Given the description of an element on the screen output the (x, y) to click on. 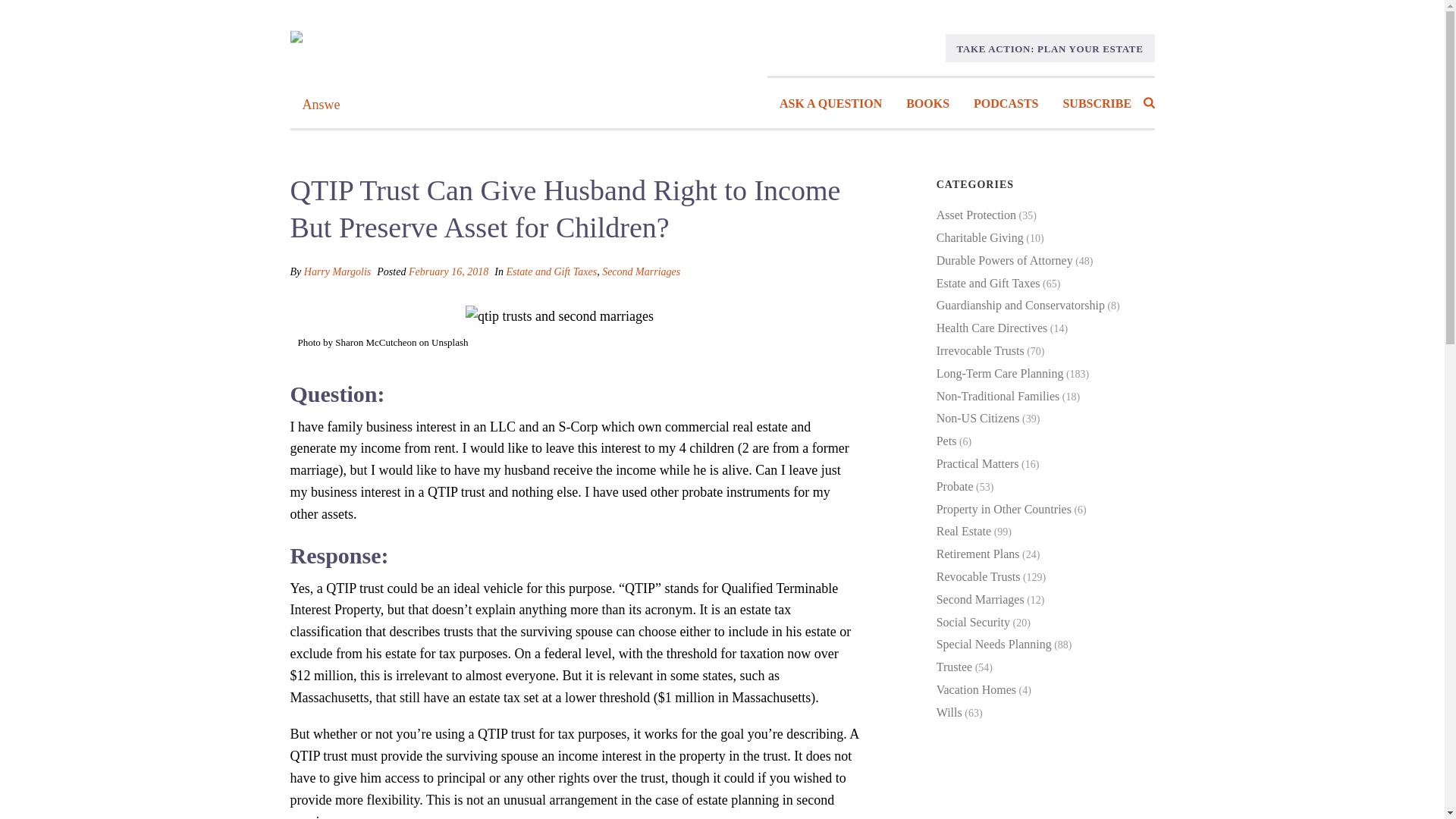
PODCASTS (1004, 104)
Charitable Giving (979, 237)
Second Marriages (640, 271)
Asset Protection (976, 214)
Harry Margolis (337, 271)
February 16, 2018 (448, 271)
BOOKS (926, 104)
PODCASTS (1004, 104)
Posts by Harry Margolis (337, 271)
TAKE ACTION: PLAN YOUR ESTATE (1050, 49)
